Given the description of an element on the screen output the (x, y) to click on. 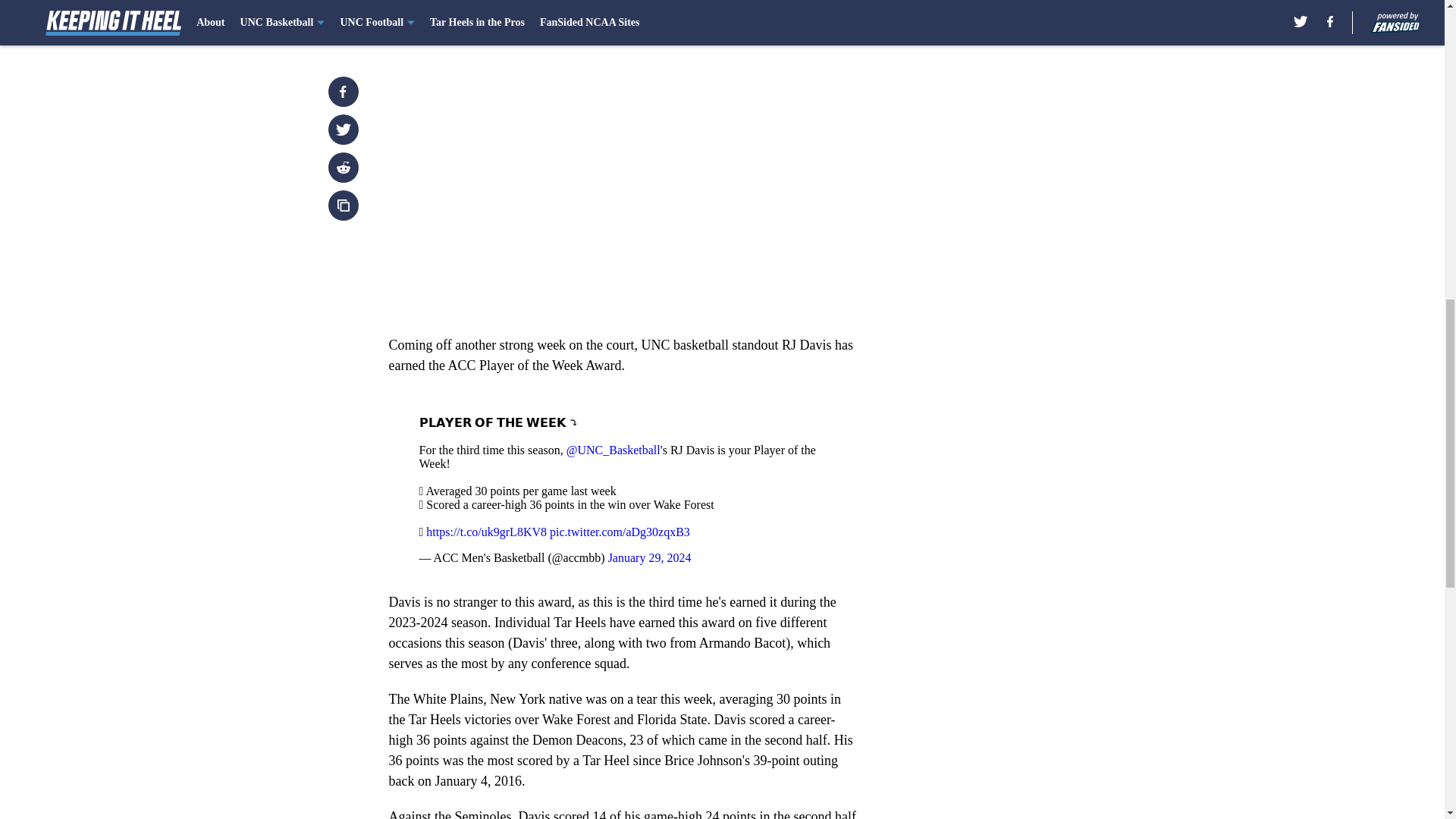
January 29, 2024 (649, 557)
